Given the description of an element on the screen output the (x, y) to click on. 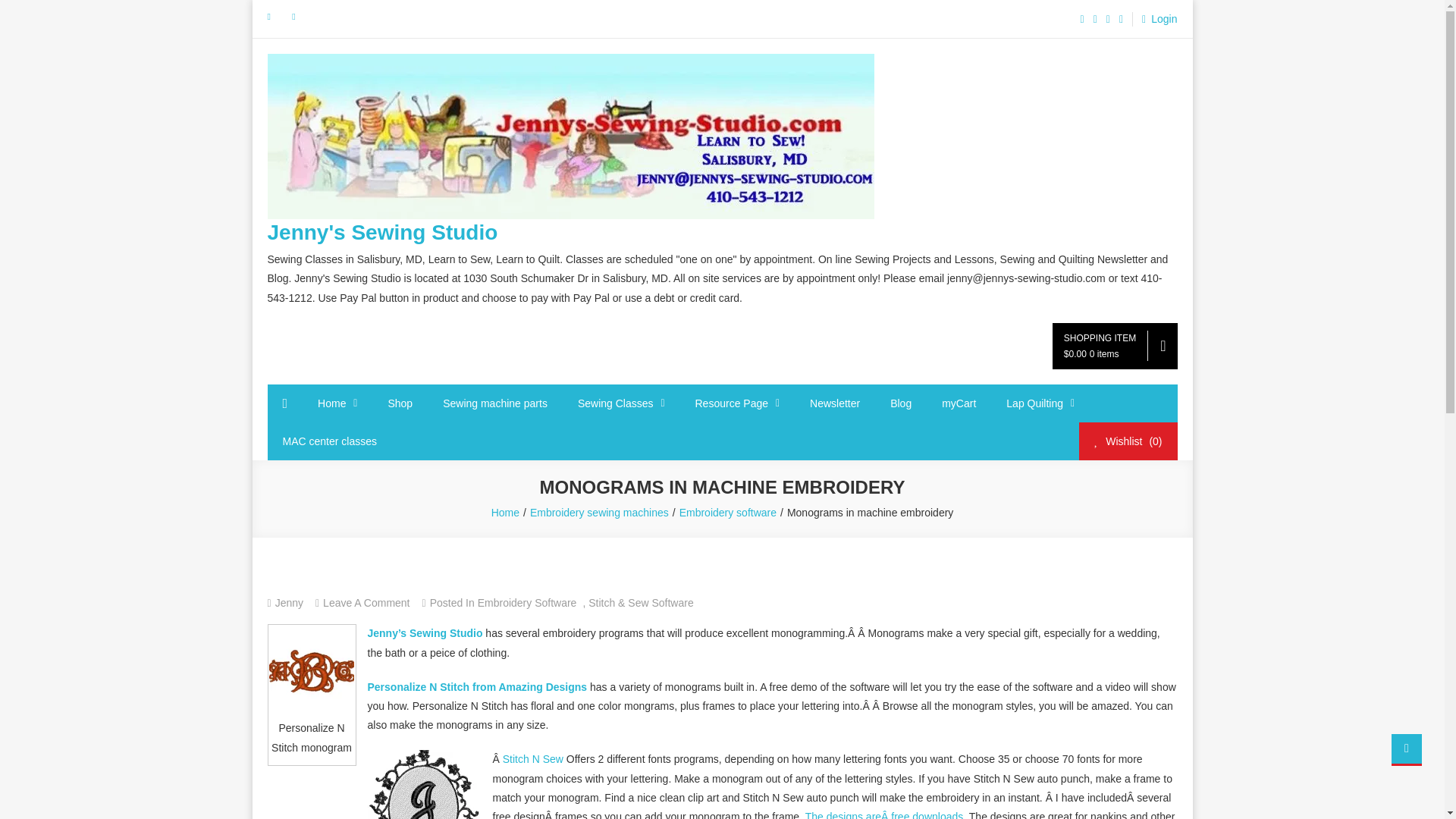
Home (337, 403)
mono2 (312, 668)
Sewing Classes (620, 403)
free lettering frame embroidery (884, 814)
View your shopping cart (1114, 345)
Personalize N Stitch (477, 686)
Jenny's sewing studio embroidery software (425, 633)
framea (423, 784)
Jenny's Sewing Studio (381, 232)
Login (1154, 19)
Wishlist Tab (1127, 441)
Web store (400, 403)
Sewing machine parts (495, 403)
stitch N sew software (534, 758)
Shop (400, 403)
